Given the description of an element on the screen output the (x, y) to click on. 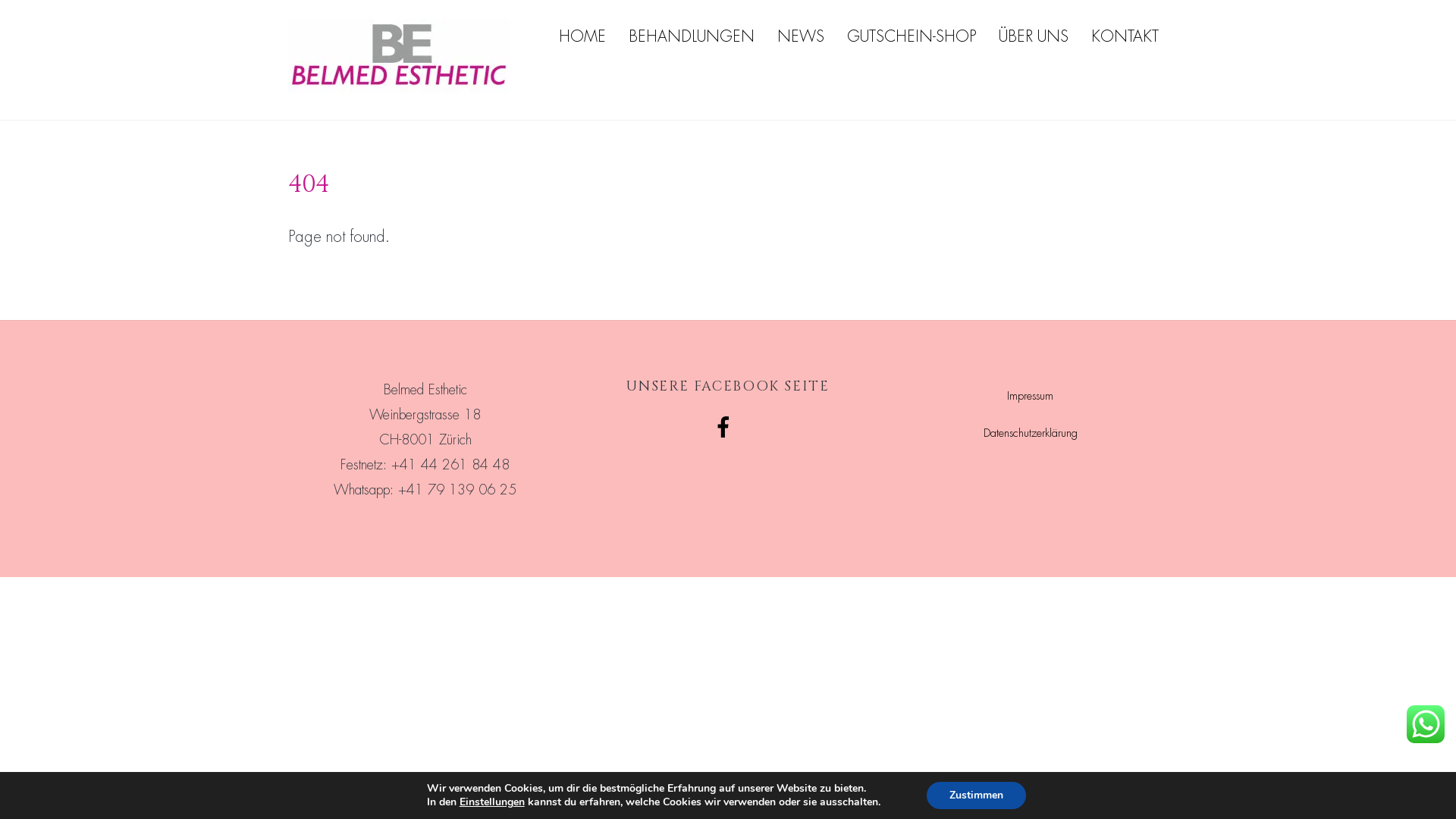
BELMED_Logo-45x15mm-k Element type: hover (399, 55)
Einstellungen Element type: text (491, 802)
GUTSCHEIN-SHOP Element type: text (911, 36)
Zustimmen Element type: text (976, 795)
BEHANDLUNGEN Element type: text (691, 36)
HOME Element type: text (582, 36)
Impressum Element type: text (1030, 395)
KONTAKT Element type: text (1124, 36)
NEWS Element type: text (800, 36)
